Given the description of an element on the screen output the (x, y) to click on. 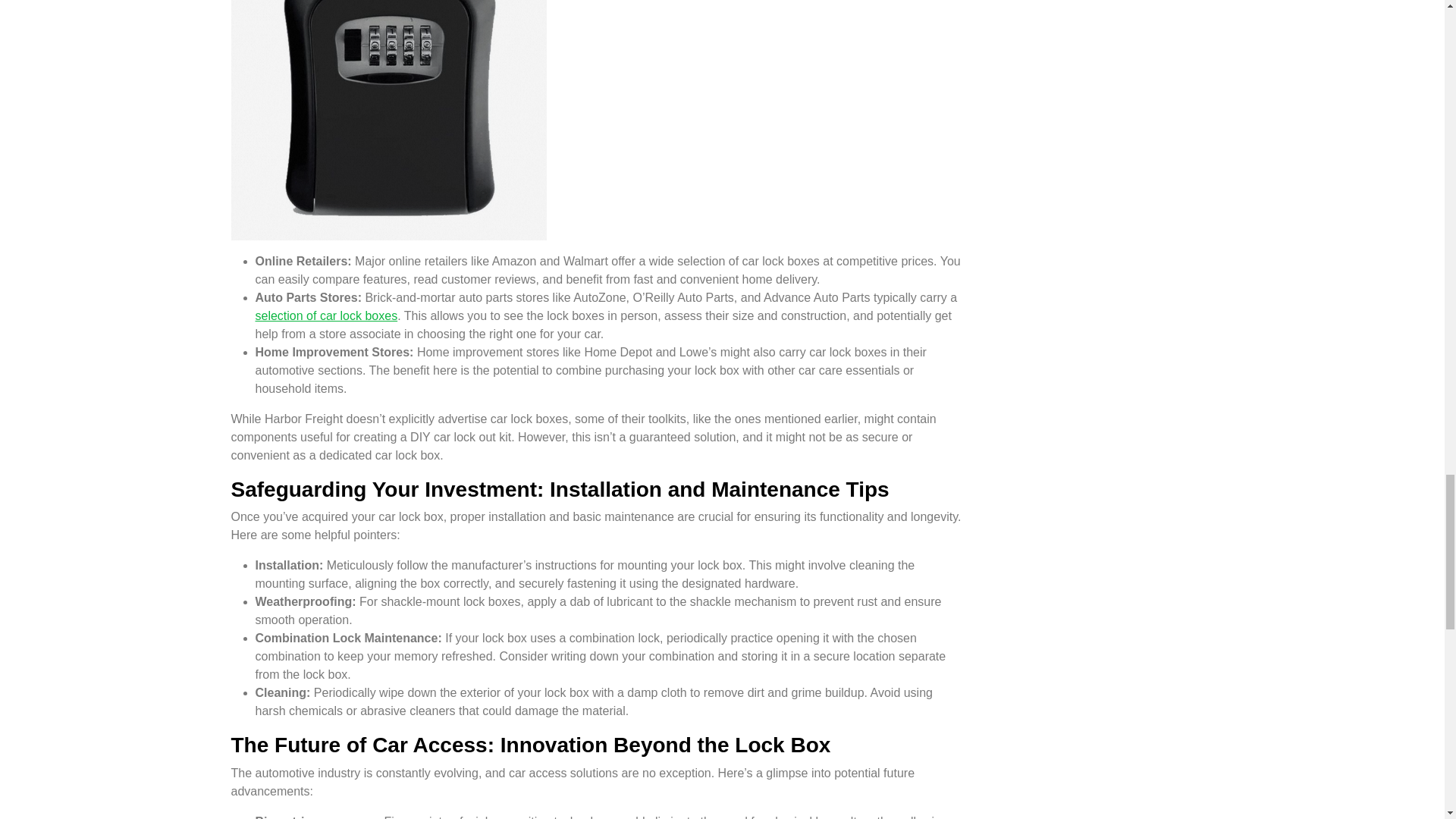
selection of car lock boxes (325, 315)
